Given the description of an element on the screen output the (x, y) to click on. 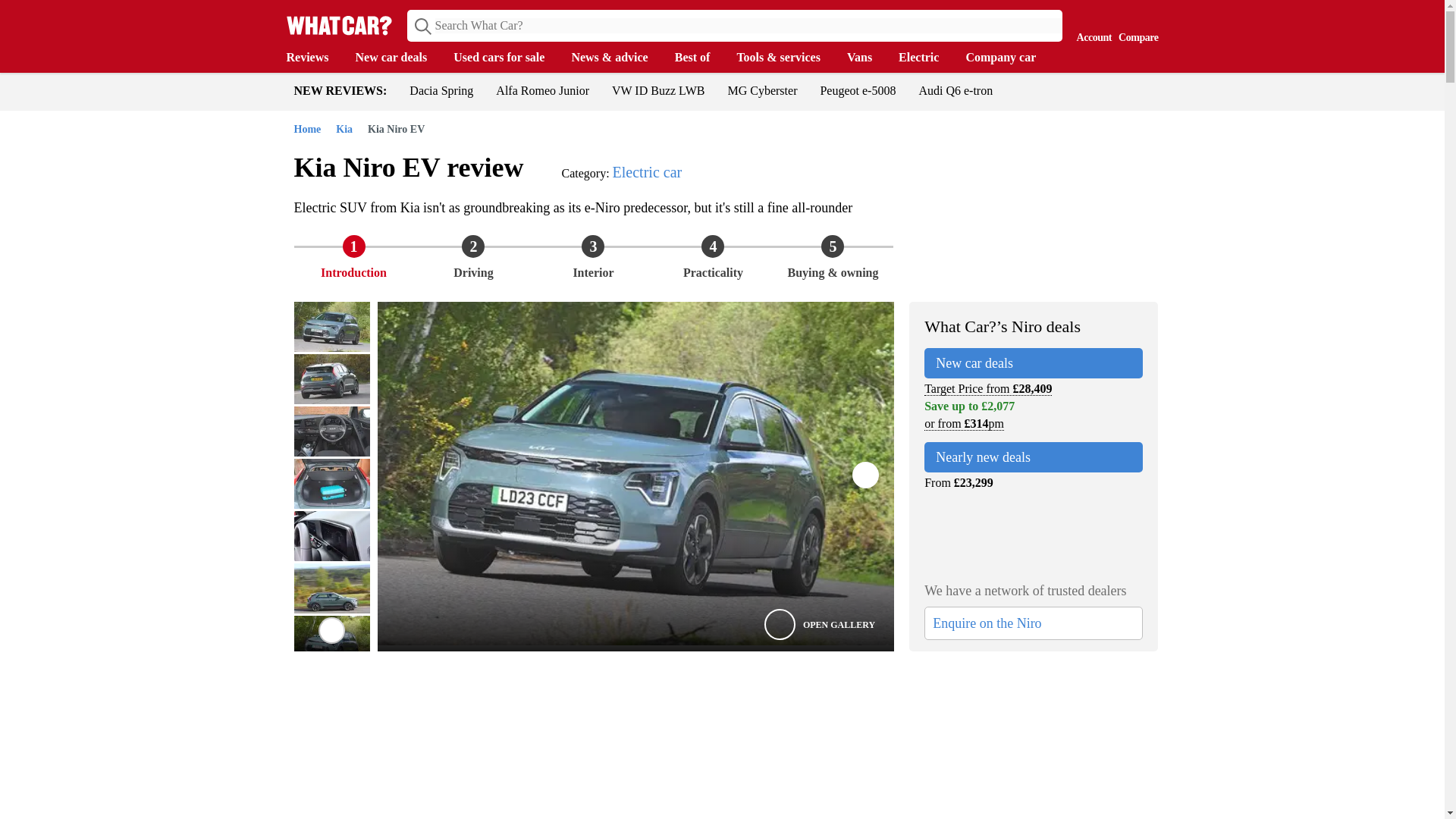
Vans (866, 57)
New car deals (398, 57)
Best of (700, 57)
Account (1091, 24)
Electric (925, 57)
Used cars for sale (505, 57)
Compare (1134, 24)
WhatCar? logo (338, 25)
Company car (1008, 57)
Reviews (314, 57)
